Given the description of an element on the screen output the (x, y) to click on. 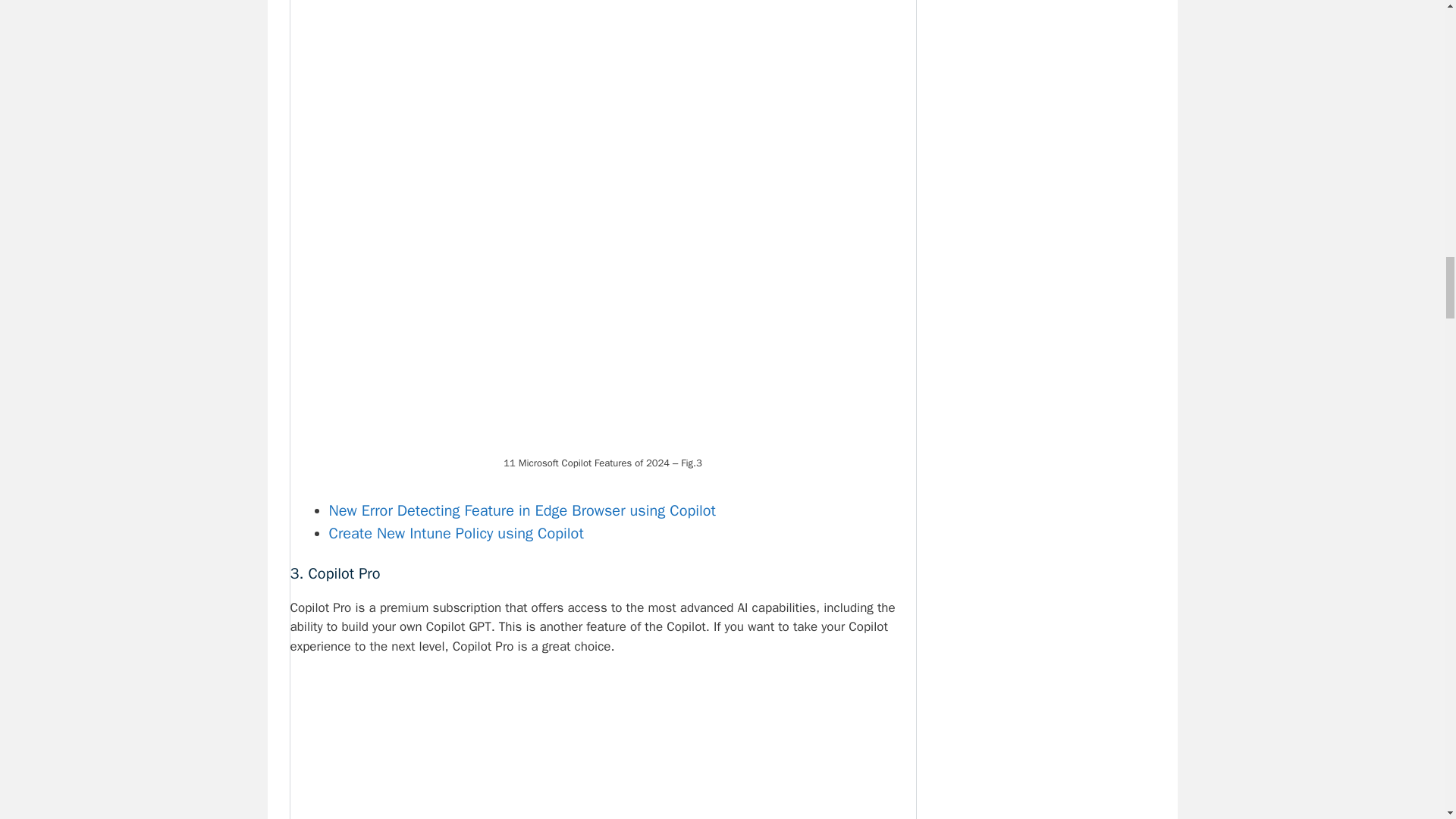
11 Microsoft Copilot Features of 2024 4 (601, 747)
Create New Intune Policy using Copilot (456, 533)
New Error Detecting Feature in Edge Browser using Copilot (522, 510)
